Given the description of an element on the screen output the (x, y) to click on. 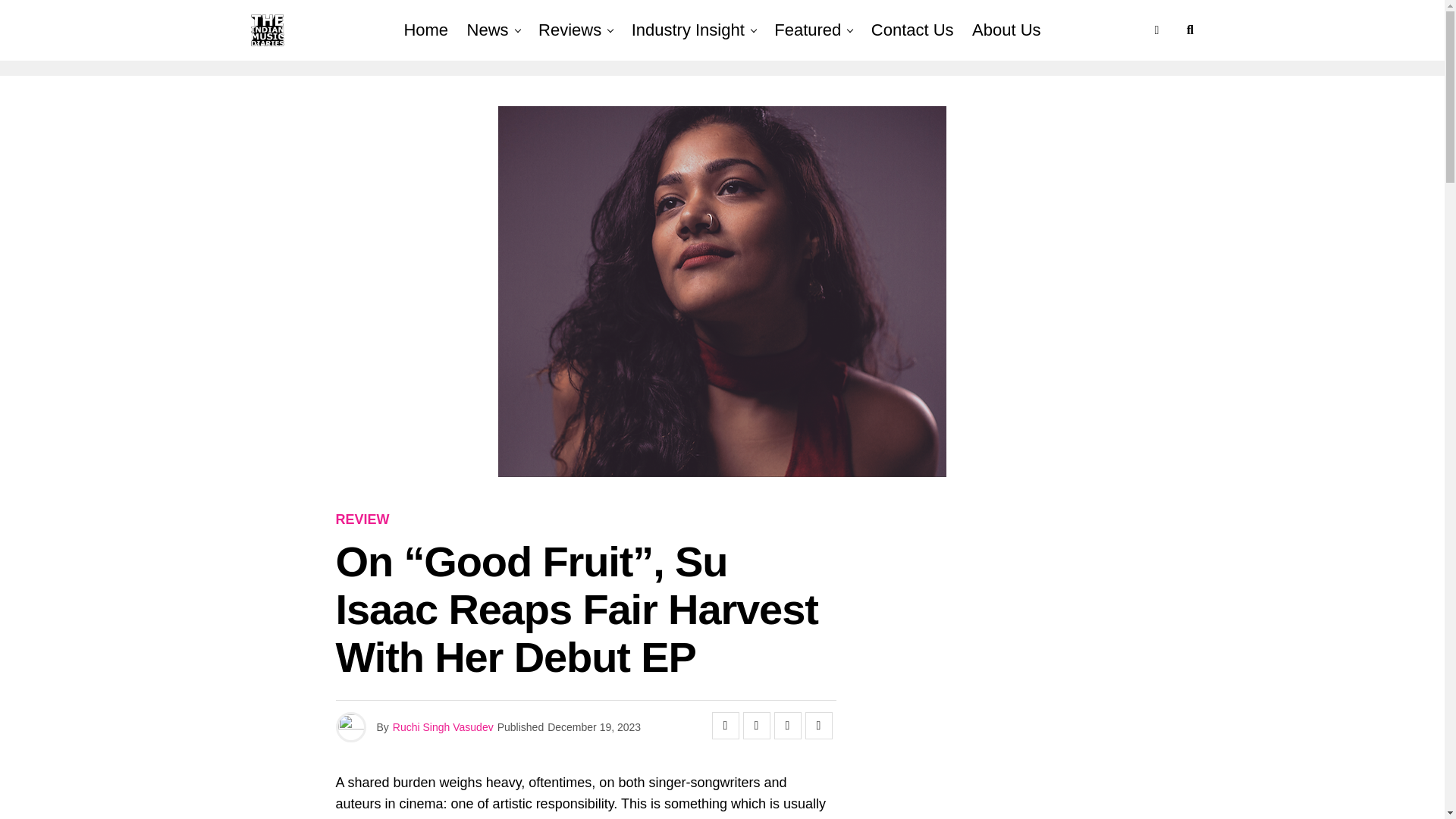
Share on Facebook (724, 725)
News (488, 30)
Reviews (569, 30)
Industry Insight (688, 30)
Tweet This Post (756, 725)
Home (425, 30)
Posts by Ruchi Singh Vasudev (443, 727)
Featured (807, 30)
